Given the description of an element on the screen output the (x, y) to click on. 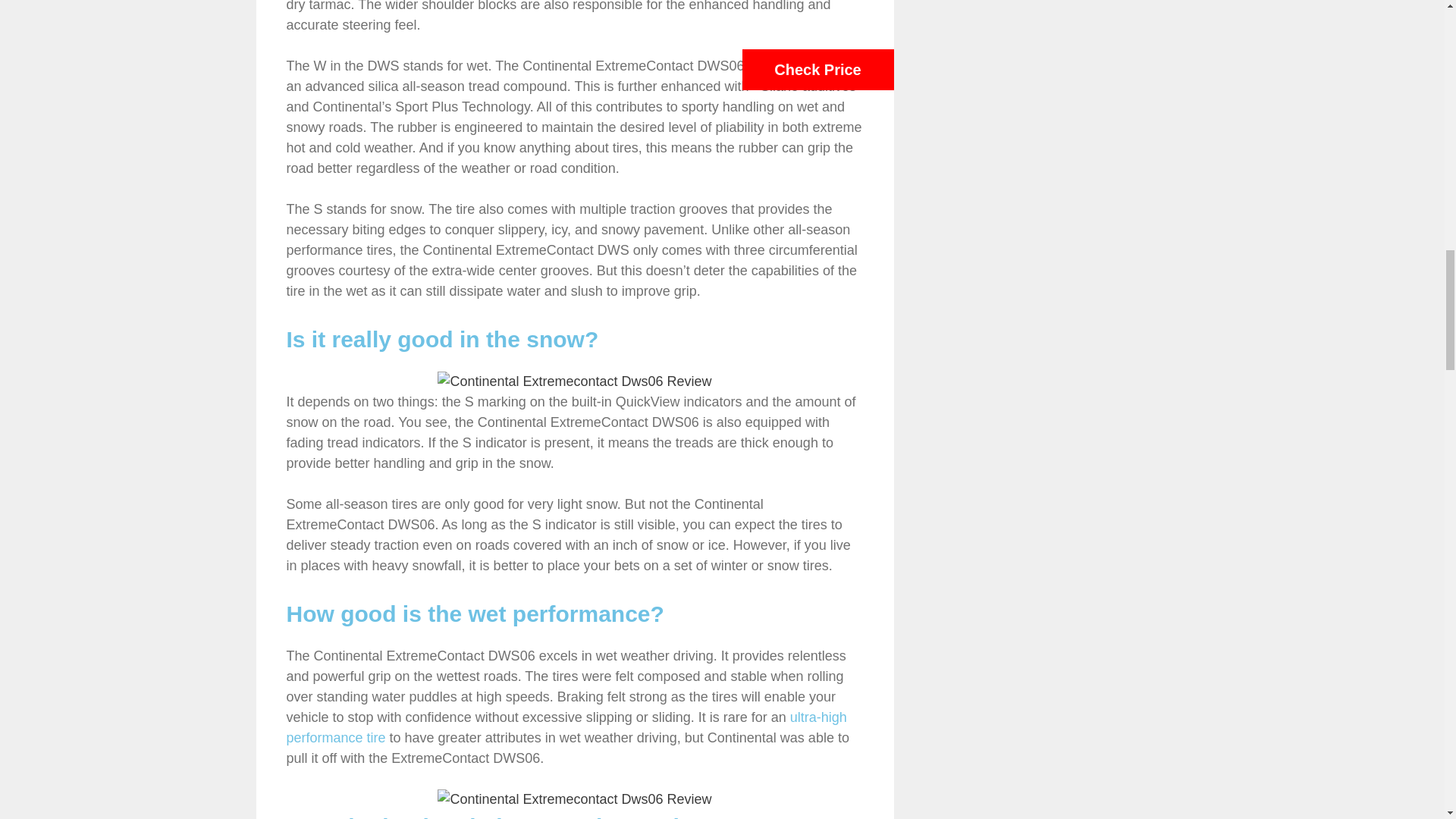
ultra-high performance tire (566, 727)
